Given the description of an element on the screen output the (x, y) to click on. 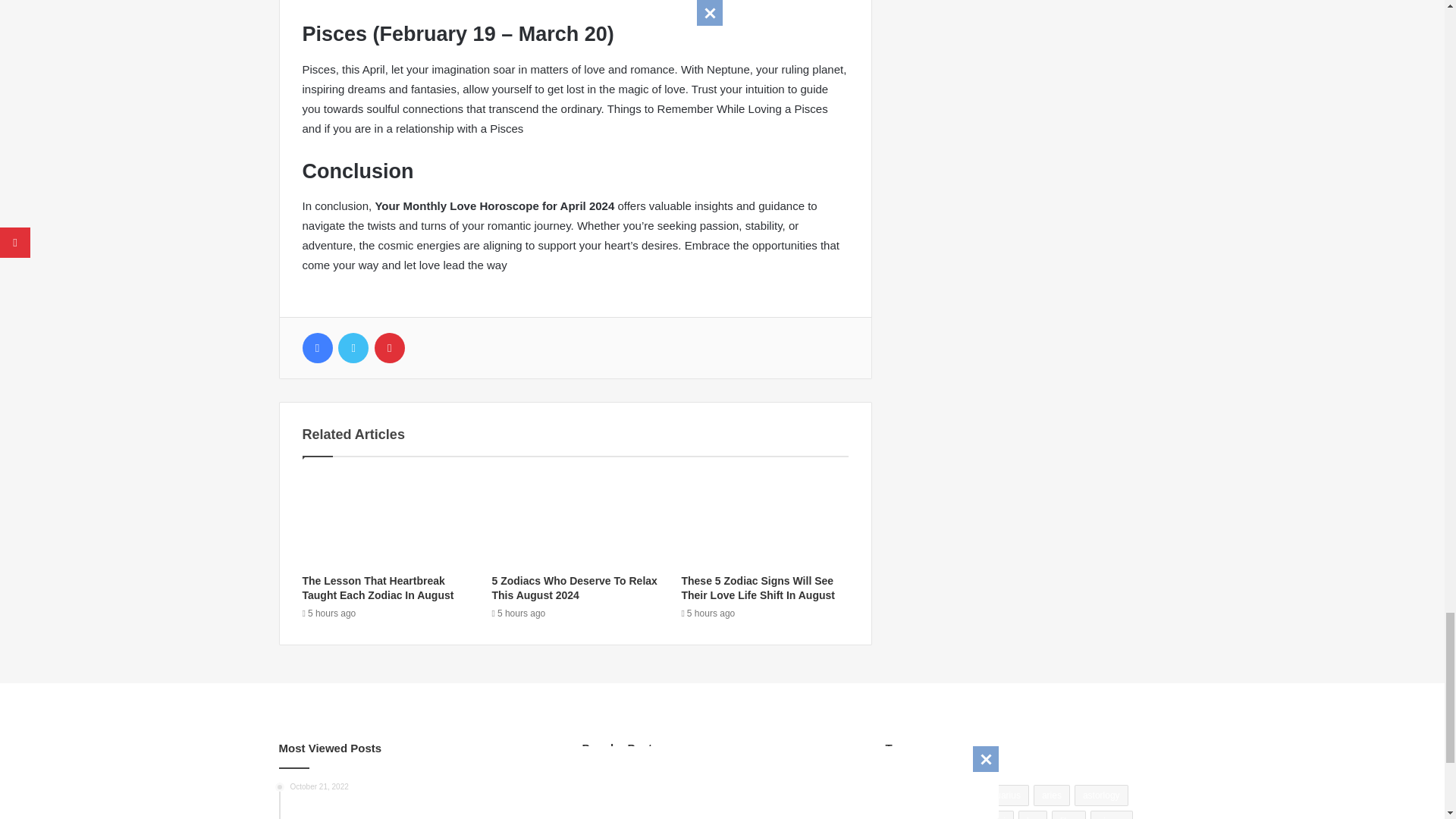
5 Zodiacs Who Deserve To Relax This August 2024 (574, 587)
The Lesson That Heartbreak Taught Each Zodiac In August (376, 587)
Pinterest (389, 347)
Facebook (316, 347)
Twitter (352, 347)
Facebook (316, 347)
